Given the description of an element on the screen output the (x, y) to click on. 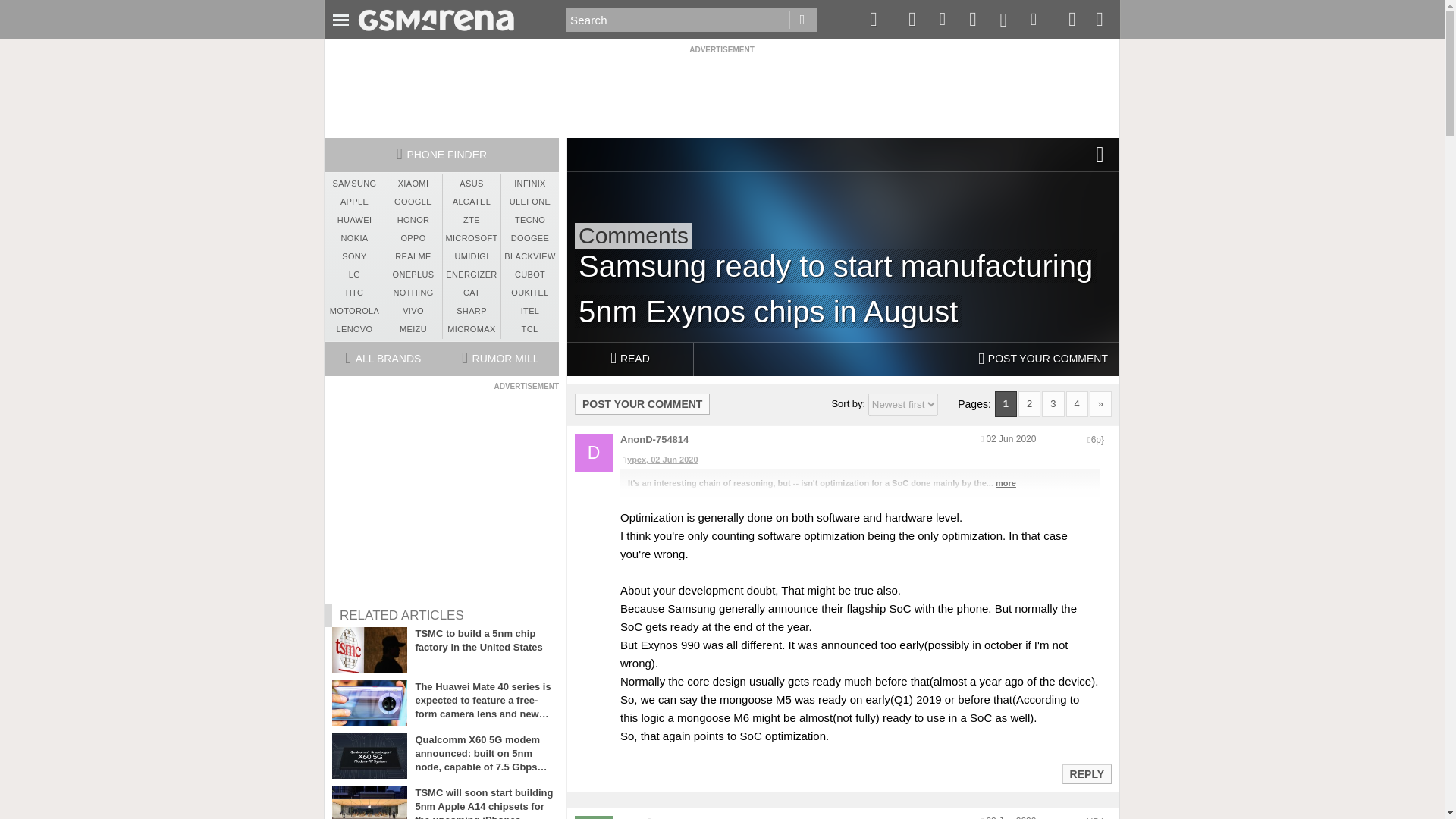
Go (802, 19)
Encoded anonymized location (1096, 439)
POST YOUR COMMENT (1042, 359)
more (1005, 482)
Sort comments by (902, 404)
READ (630, 359)
Reply to this post (1086, 774)
Go (802, 19)
ypcx, 02 Jun 2020 (859, 459)
Encoded anonymized location (1094, 817)
3rd party ad content (721, 88)
POST YOUR COMMENT (642, 403)
